Given the description of an element on the screen output the (x, y) to click on. 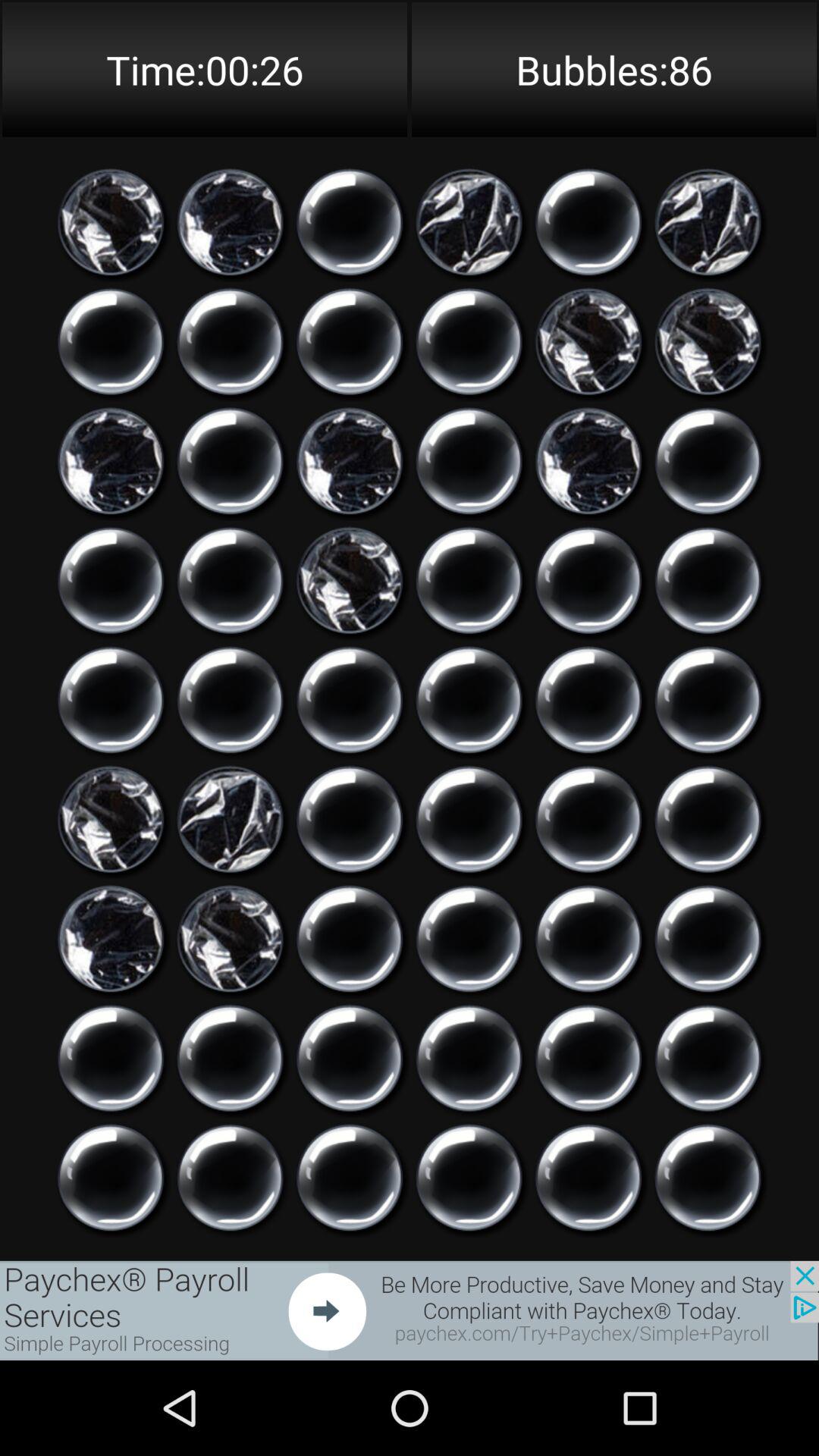
pop this bubble (230, 938)
